Given the description of an element on the screen output the (x, y) to click on. 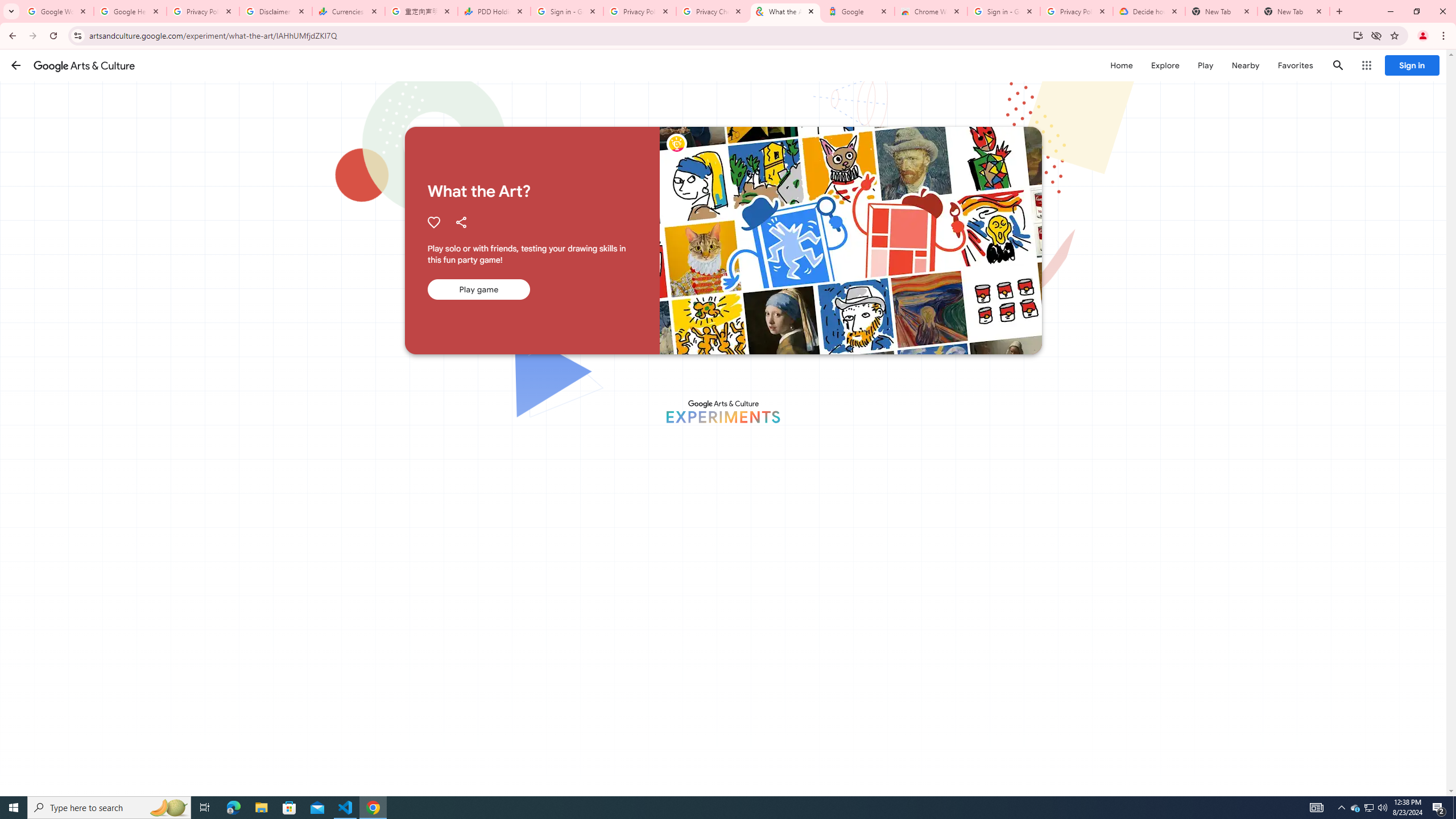
System (6, 6)
Search tabs (10, 11)
Sign in - Google Accounts (566, 11)
New Tab (1293, 11)
Home (1120, 65)
Sign in - Google Accounts (1003, 11)
Currencies - Google Finance (348, 11)
Explore (1164, 65)
Quit Game (1423, 71)
Play (1205, 65)
